Given the description of an element on the screen output the (x, y) to click on. 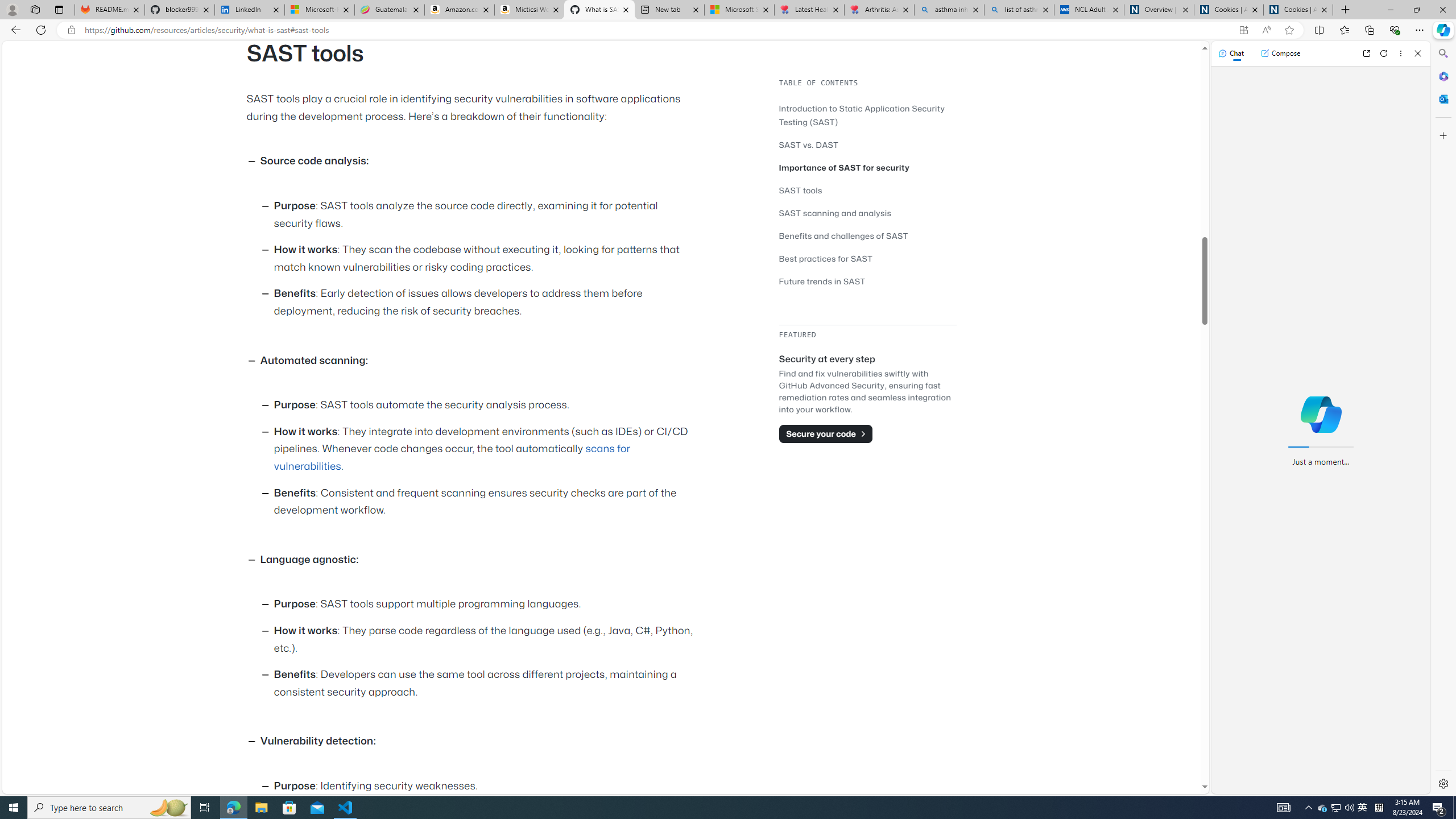
Best practices for SAST (867, 258)
SAST tools (800, 189)
SAST vs. DAST (808, 144)
Importance of SAST for security (844, 166)
Purpose: SAST tools support multiple programming languages. (485, 604)
SAST tools (867, 190)
App available. Install GitHub (1243, 29)
